Given the description of an element on the screen output the (x, y) to click on. 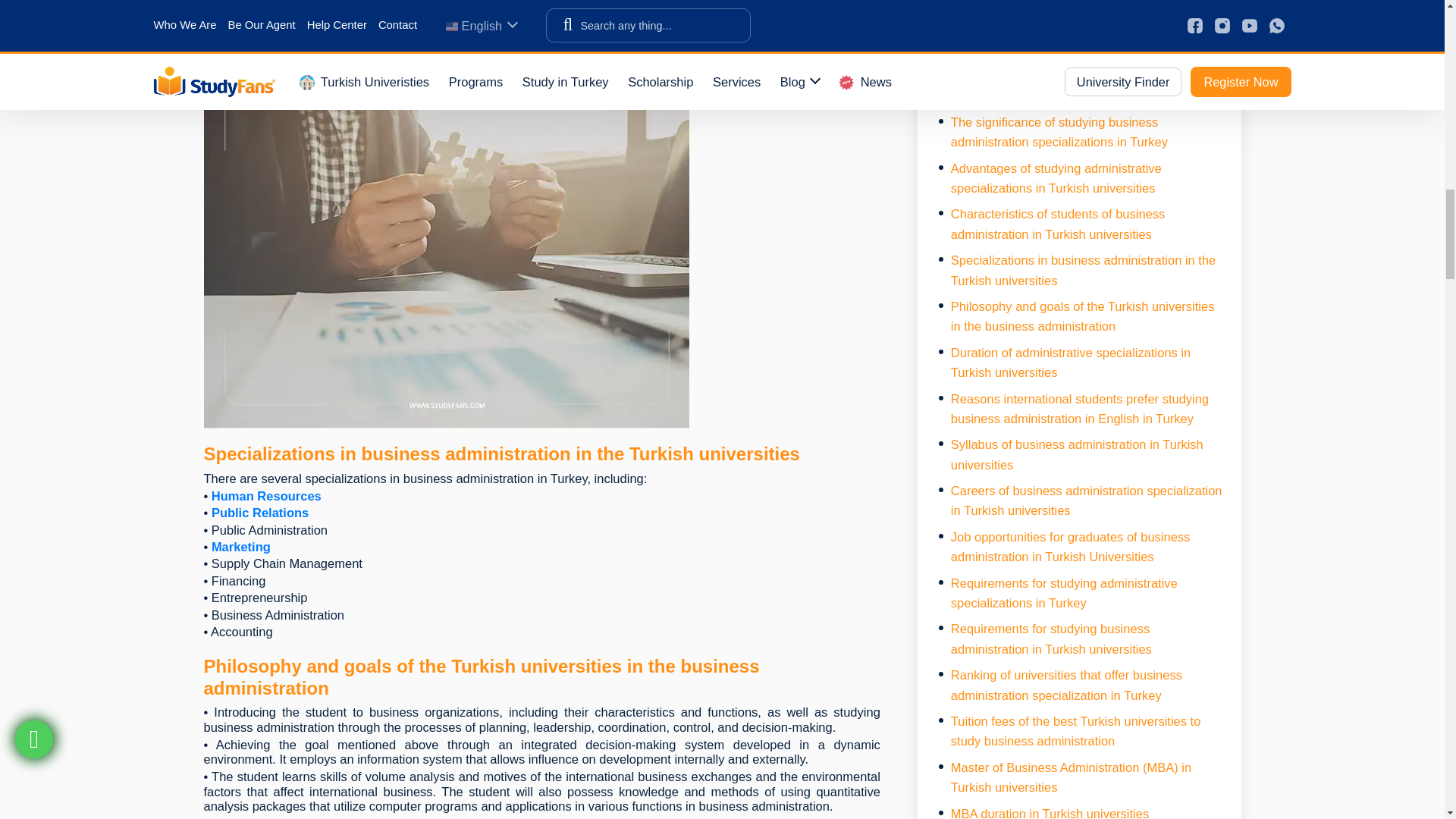
Human Resources (264, 495)
Public Relations  (262, 512)
